Given the description of an element on the screen output the (x, y) to click on. 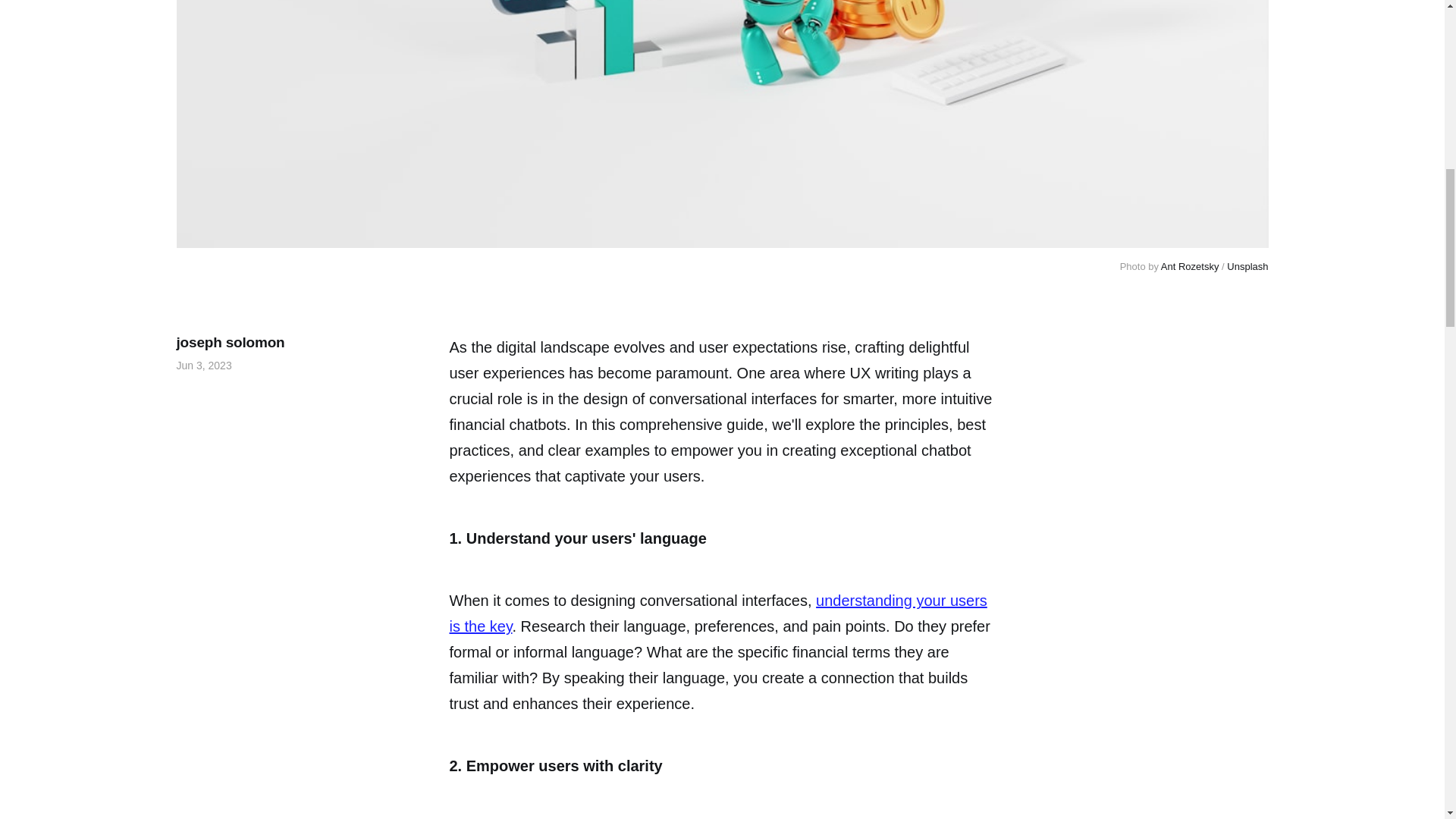
joseph solomon (229, 342)
Ant Rozetsky (1190, 266)
understanding your users is the key (717, 613)
Unsplash (1247, 266)
